Given the description of an element on the screen output the (x, y) to click on. 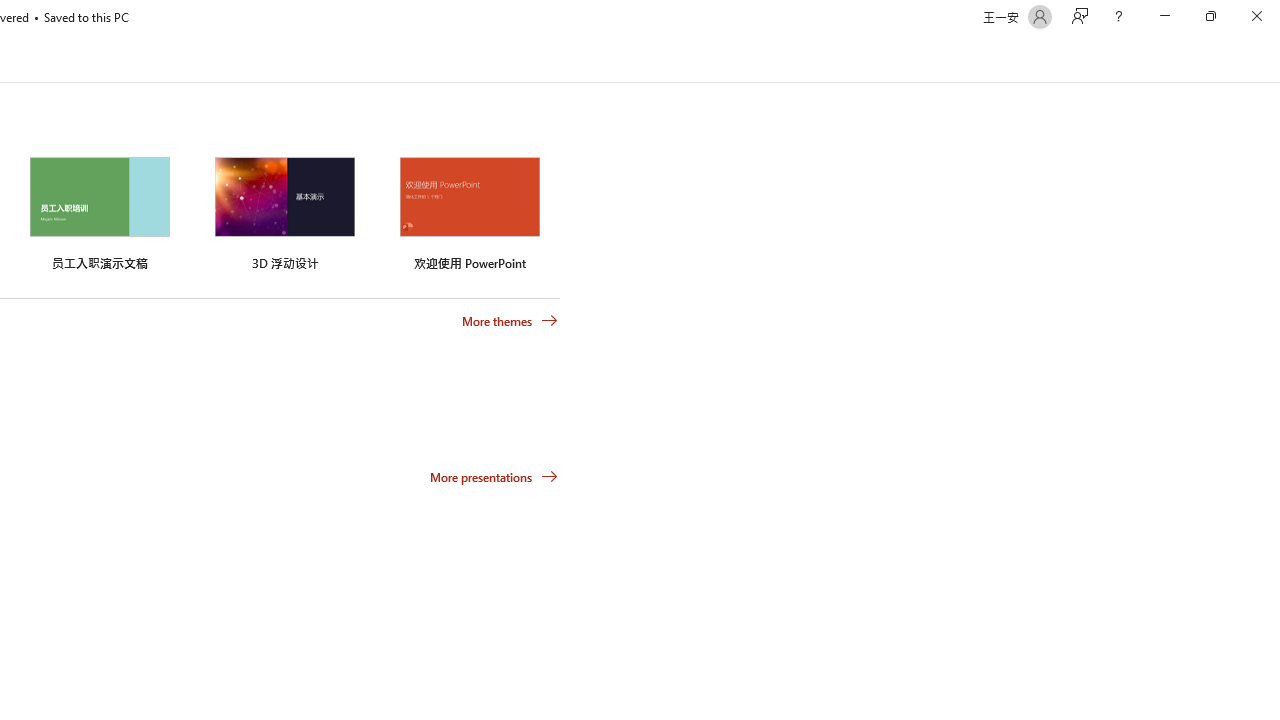
More presentations (493, 476)
More themes (509, 321)
Class: NetUIScrollBar (1271, 59)
